Given the description of an element on the screen output the (x, y) to click on. 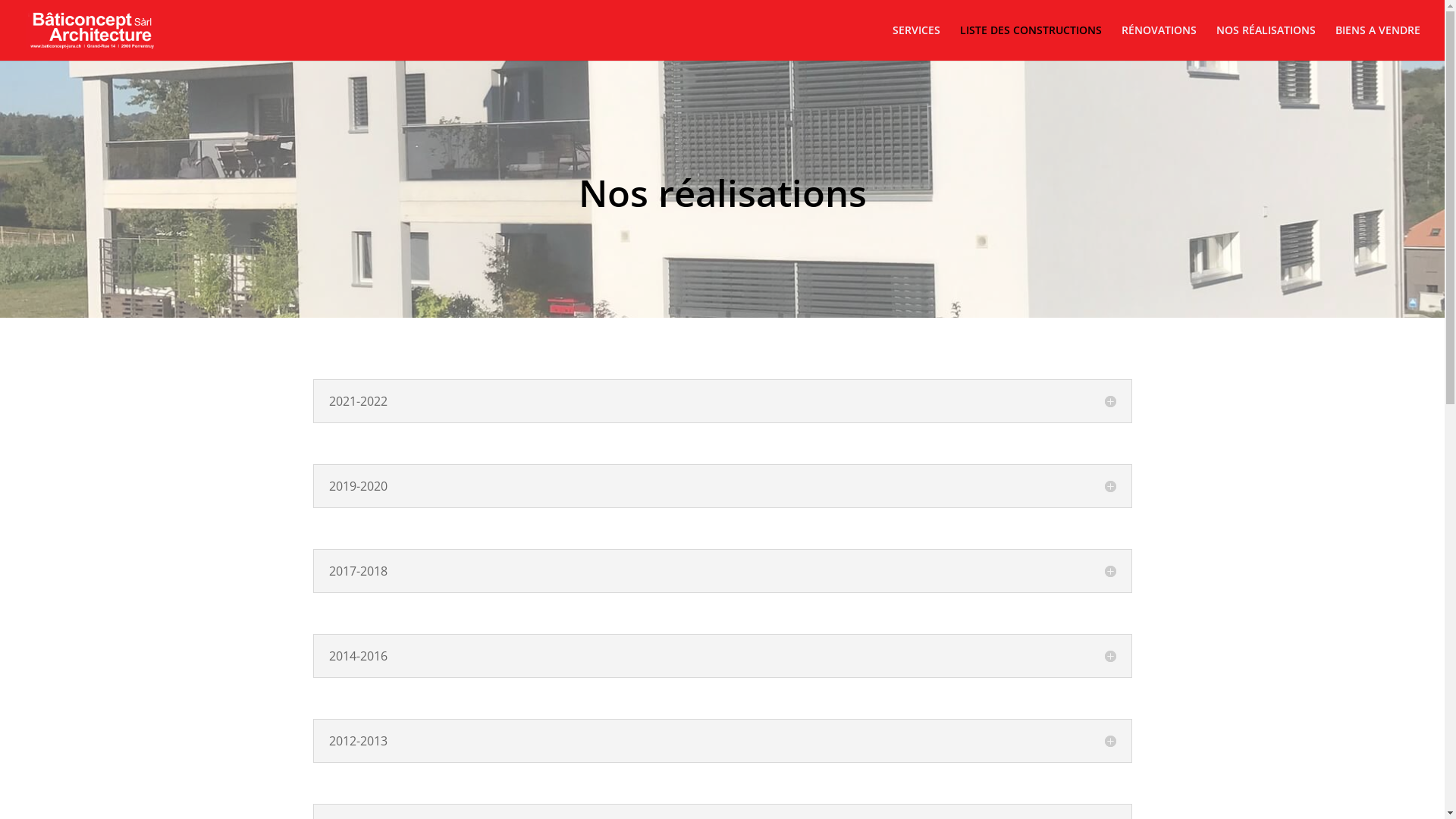
BIENS A VENDRE Element type: text (1377, 42)
LISTE DES CONSTRUCTIONS Element type: text (1030, 42)
SERVICES Element type: text (916, 42)
